Given the description of an element on the screen output the (x, y) to click on. 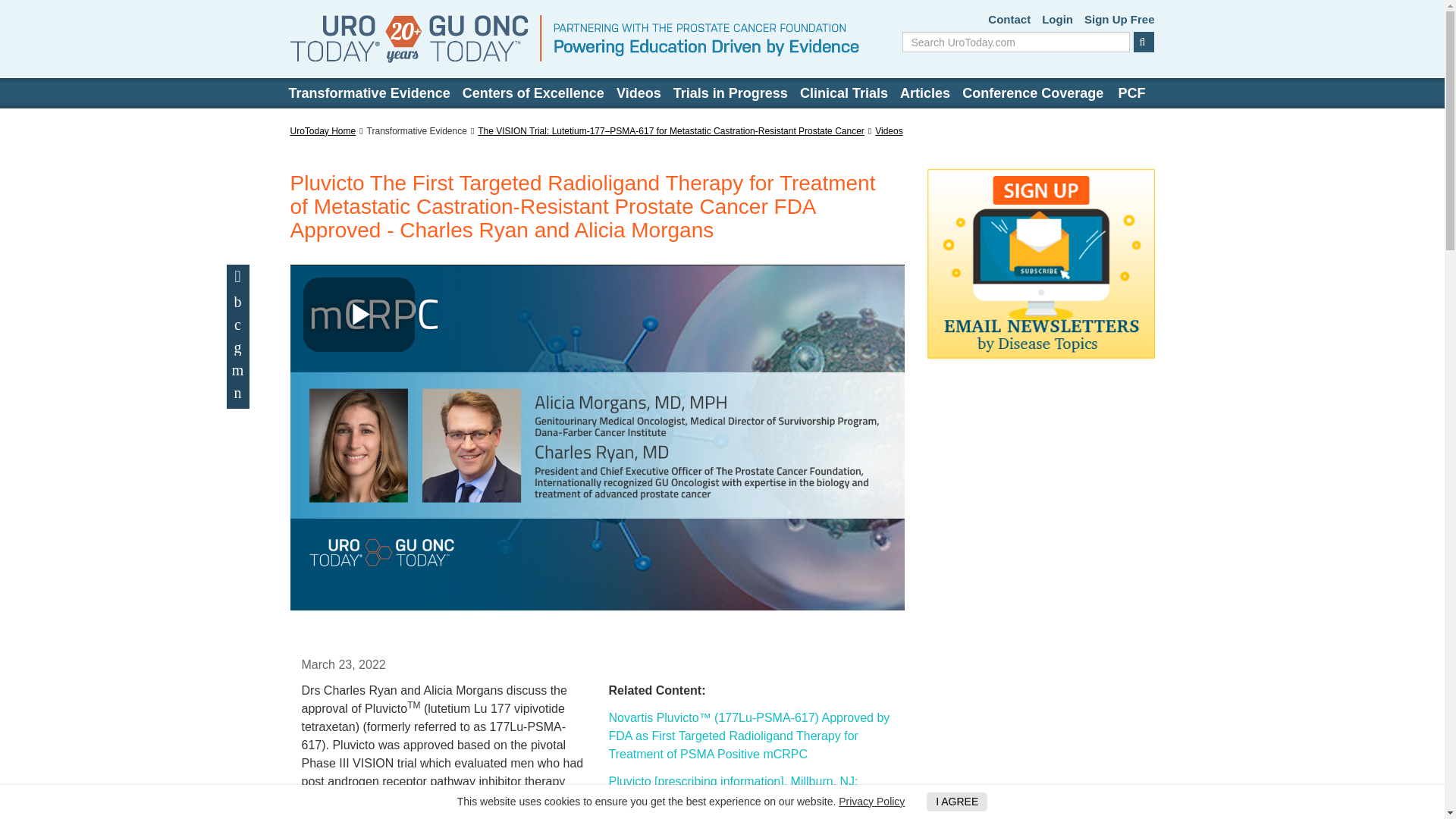
Privacy Policy (871, 801)
I AGREE (956, 801)
Sign Up Free (1119, 19)
UroToday (574, 39)
Login (1057, 19)
Contact (1009, 19)
